Given the description of an element on the screen output the (x, y) to click on. 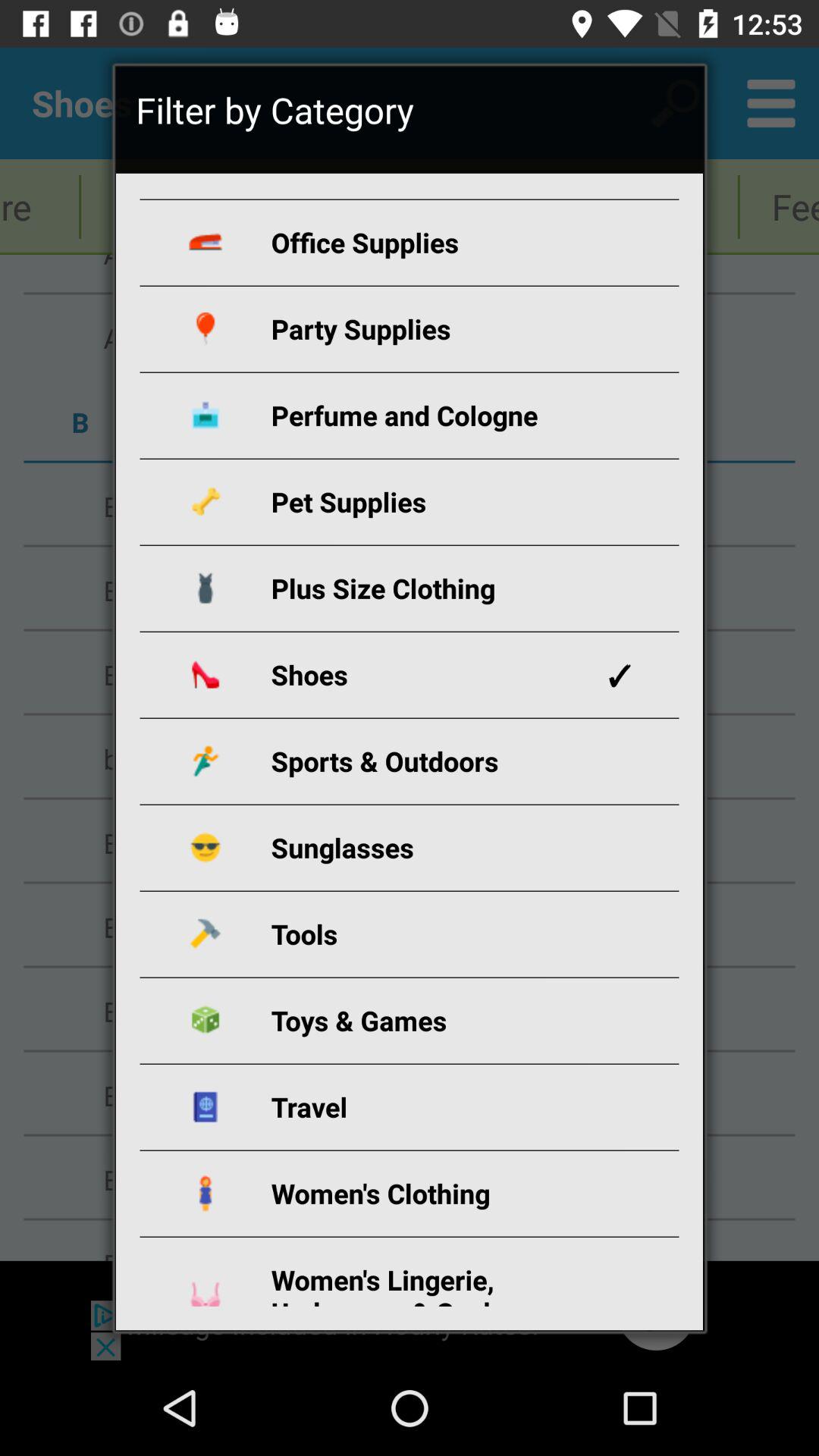
turn off the app on the right (619, 674)
